Given the description of an element on the screen output the (x, y) to click on. 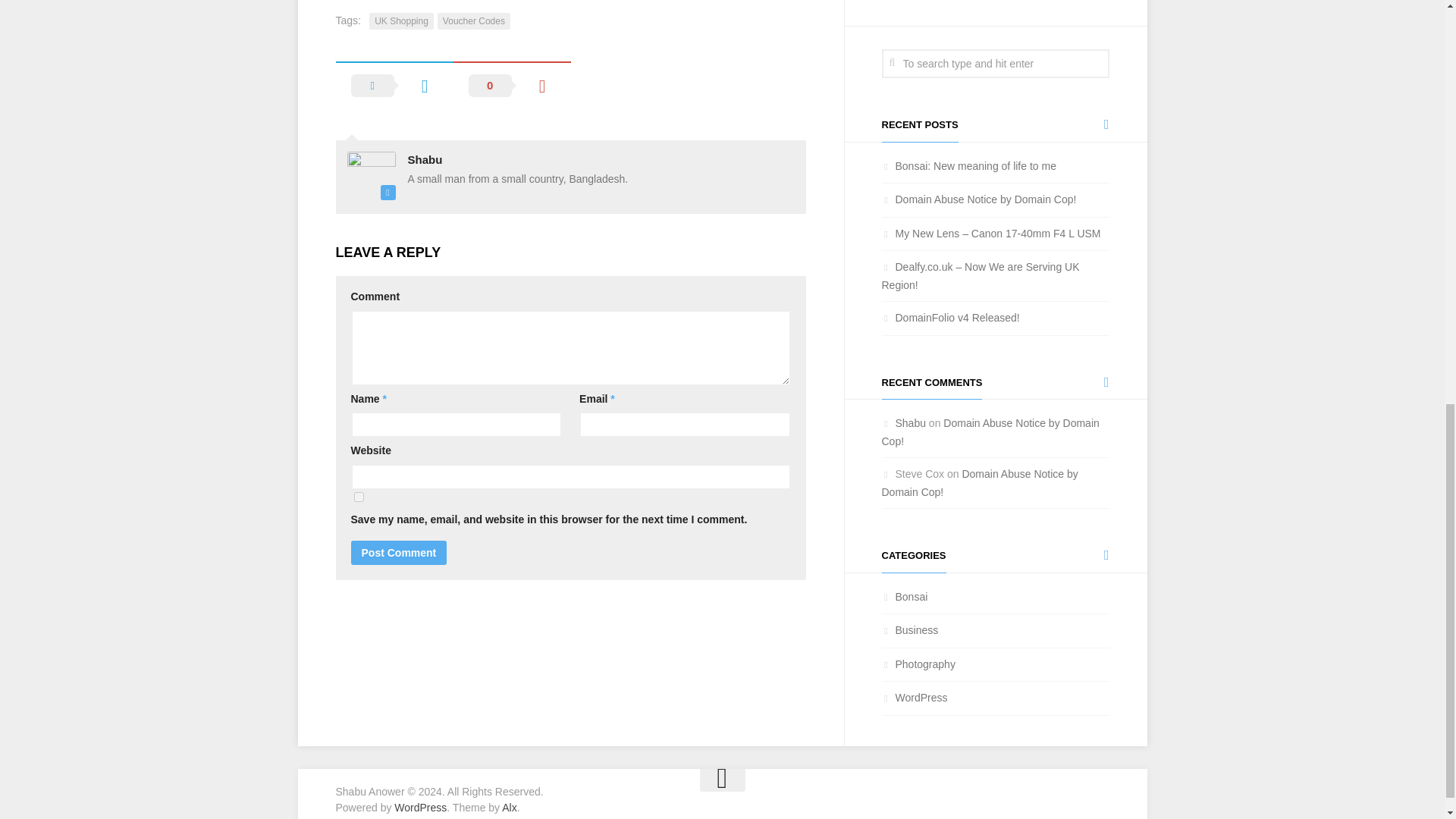
To search type and hit enter (994, 63)
Post Comment (398, 552)
Bonsai (903, 595)
WordPress (913, 697)
UK Shopping (401, 21)
Domain Abuse Notice by Domain Cop! (995, 13)
Photography (977, 199)
Voucher Codes (917, 664)
Shabu (474, 21)
